Given the description of an element on the screen output the (x, y) to click on. 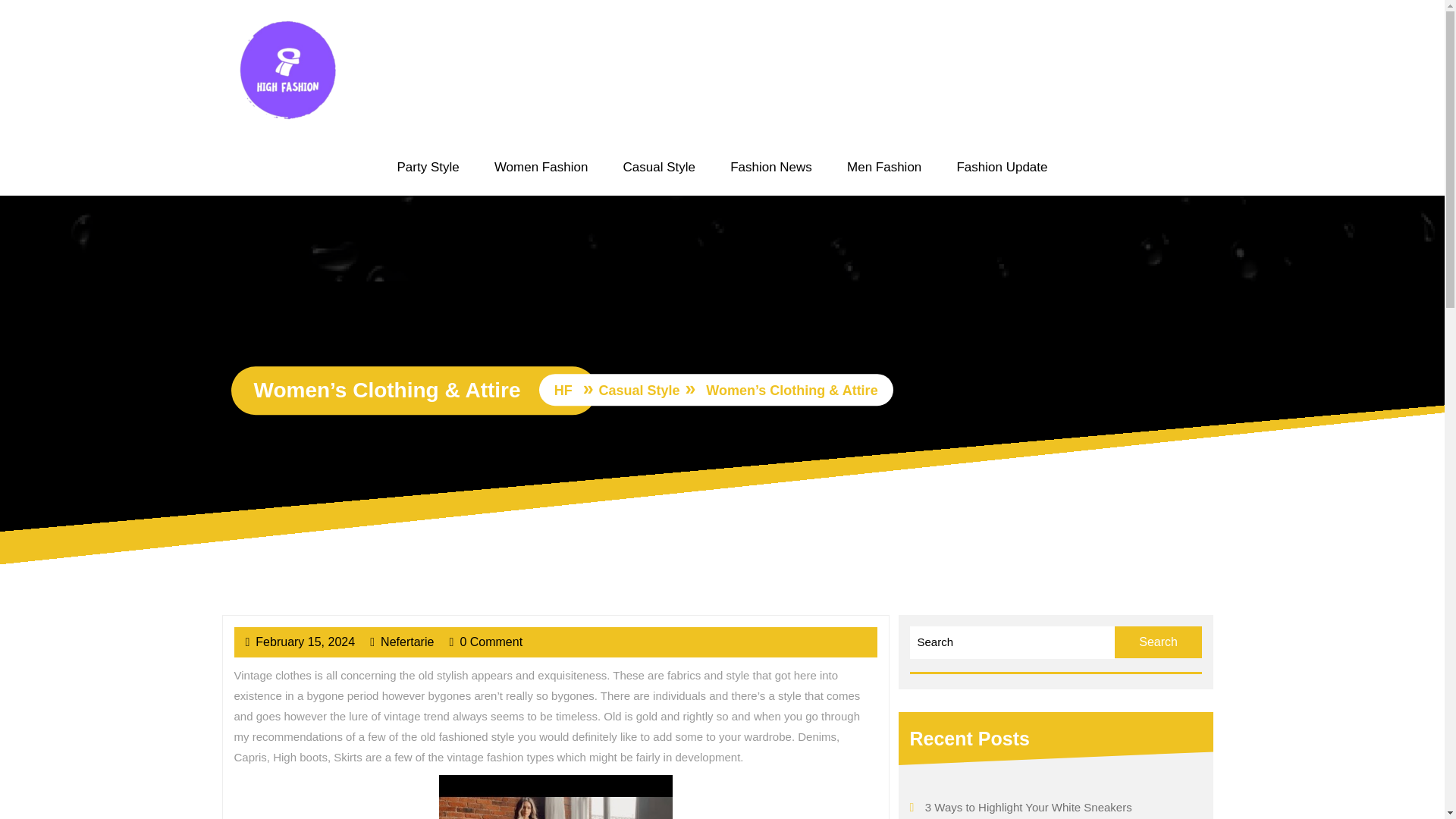
Fashion News (305, 641)
Fashion Update (771, 167)
Search (1001, 167)
Search (1158, 642)
Party Style (406, 641)
Casual Style (1158, 642)
3 Ways to Highlight Your White Sneakers (427, 167)
Casual Style (658, 167)
